Given the description of an element on the screen output the (x, y) to click on. 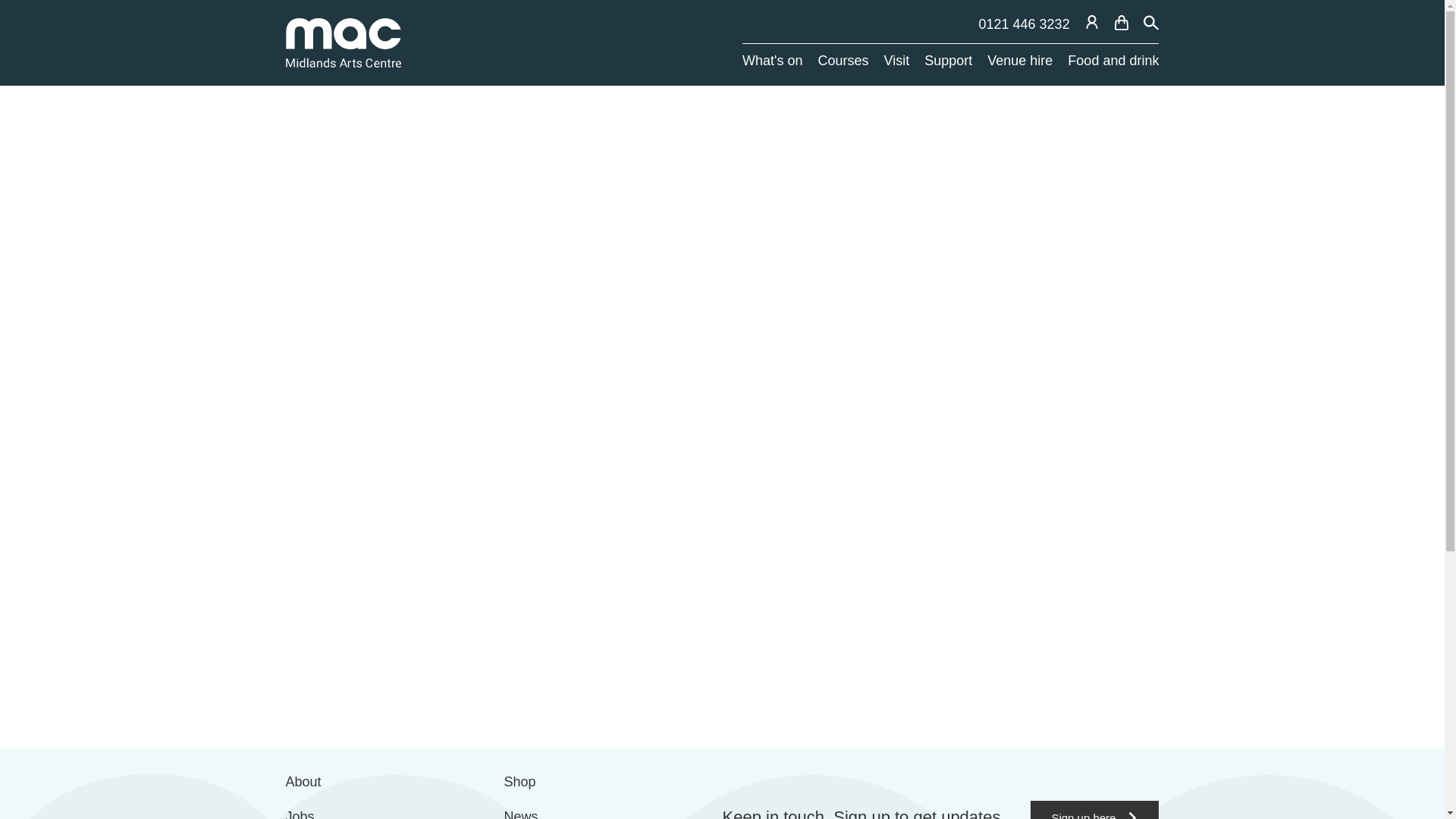
Jobs (299, 813)
What's on (772, 60)
Shop (519, 782)
News (520, 813)
Food and drink (1112, 60)
Search (1150, 22)
Basket (1121, 22)
Venue hire (1019, 60)
About (303, 782)
0121 446 3232 (1024, 23)
